Given the description of an element on the screen output the (x, y) to click on. 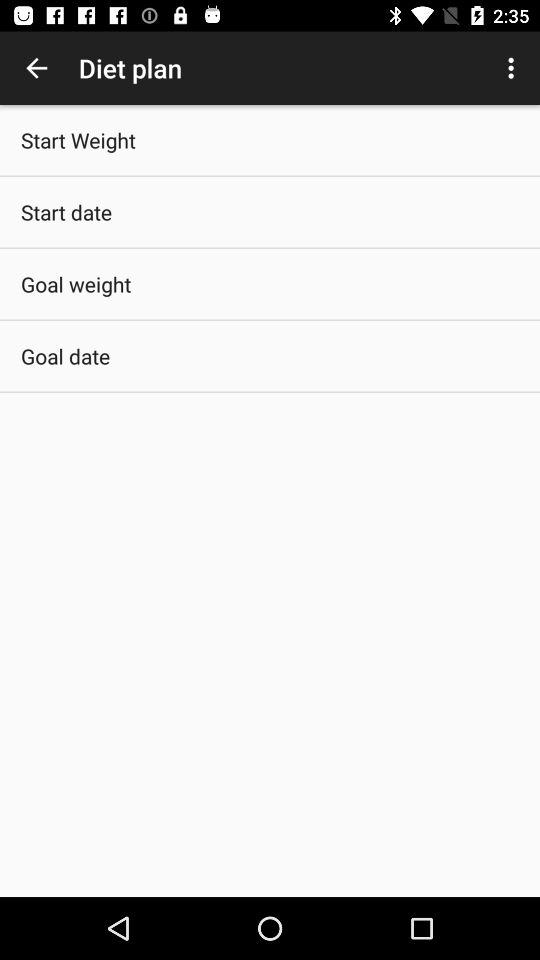
press the icon to the right of diet plan app (513, 67)
